Given the description of an element on the screen output the (x, y) to click on. 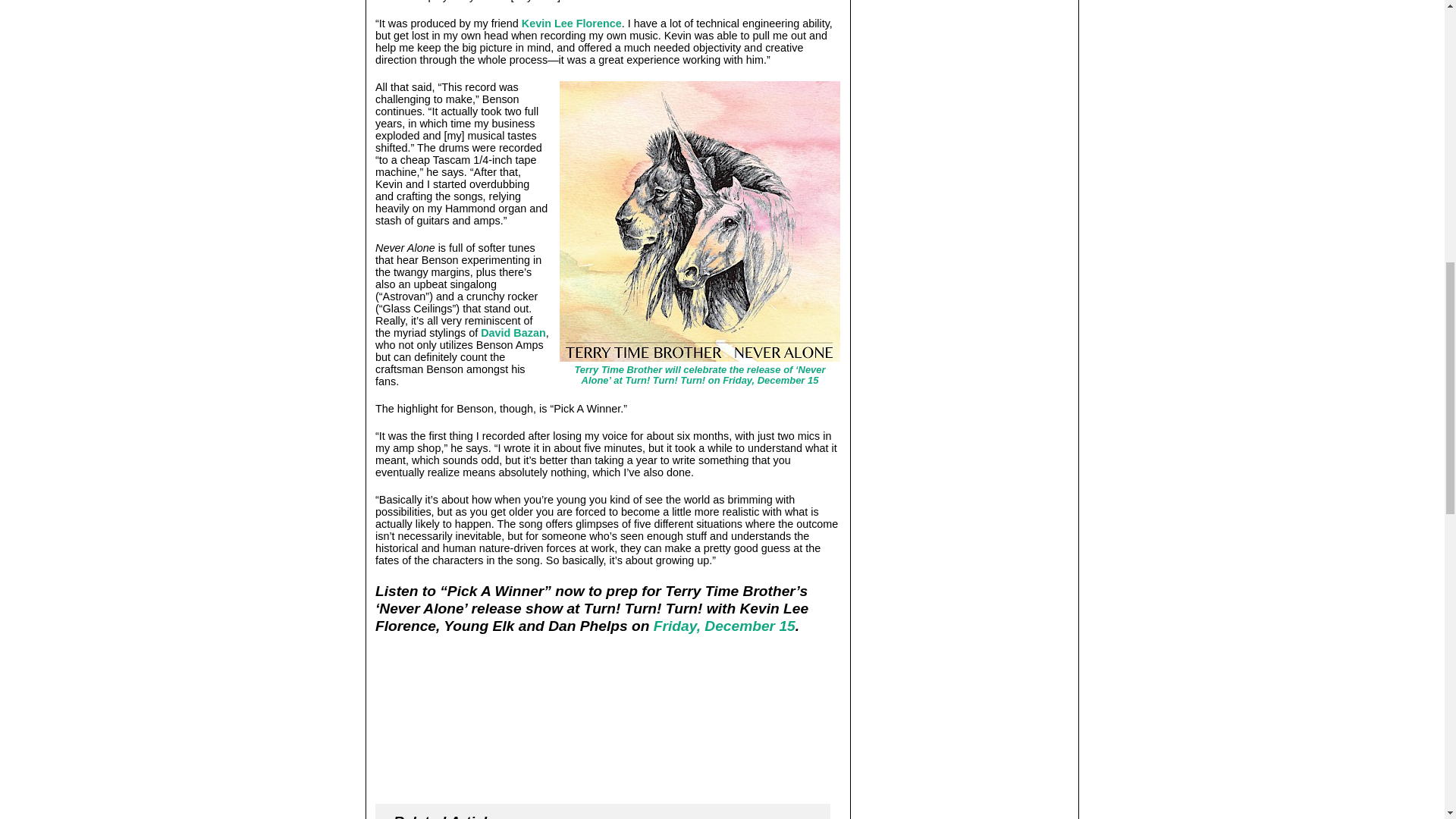
Friday, December 15 (723, 625)
Kevin Lee Florence (571, 23)
David Bazan (513, 332)
